Given the description of an element on the screen output the (x, y) to click on. 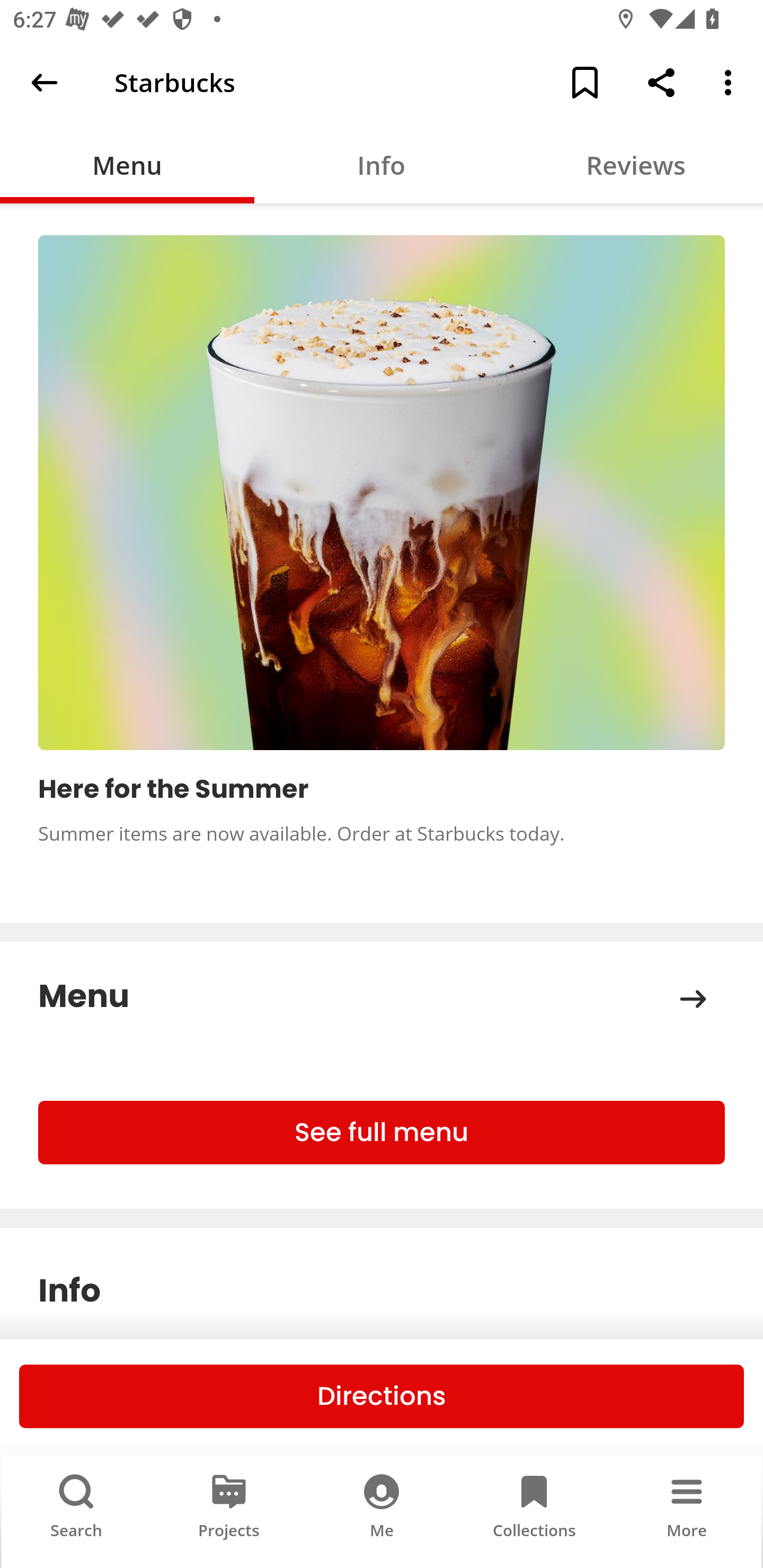
See full menu (381, 1132)
